Given the description of an element on the screen output the (x, y) to click on. 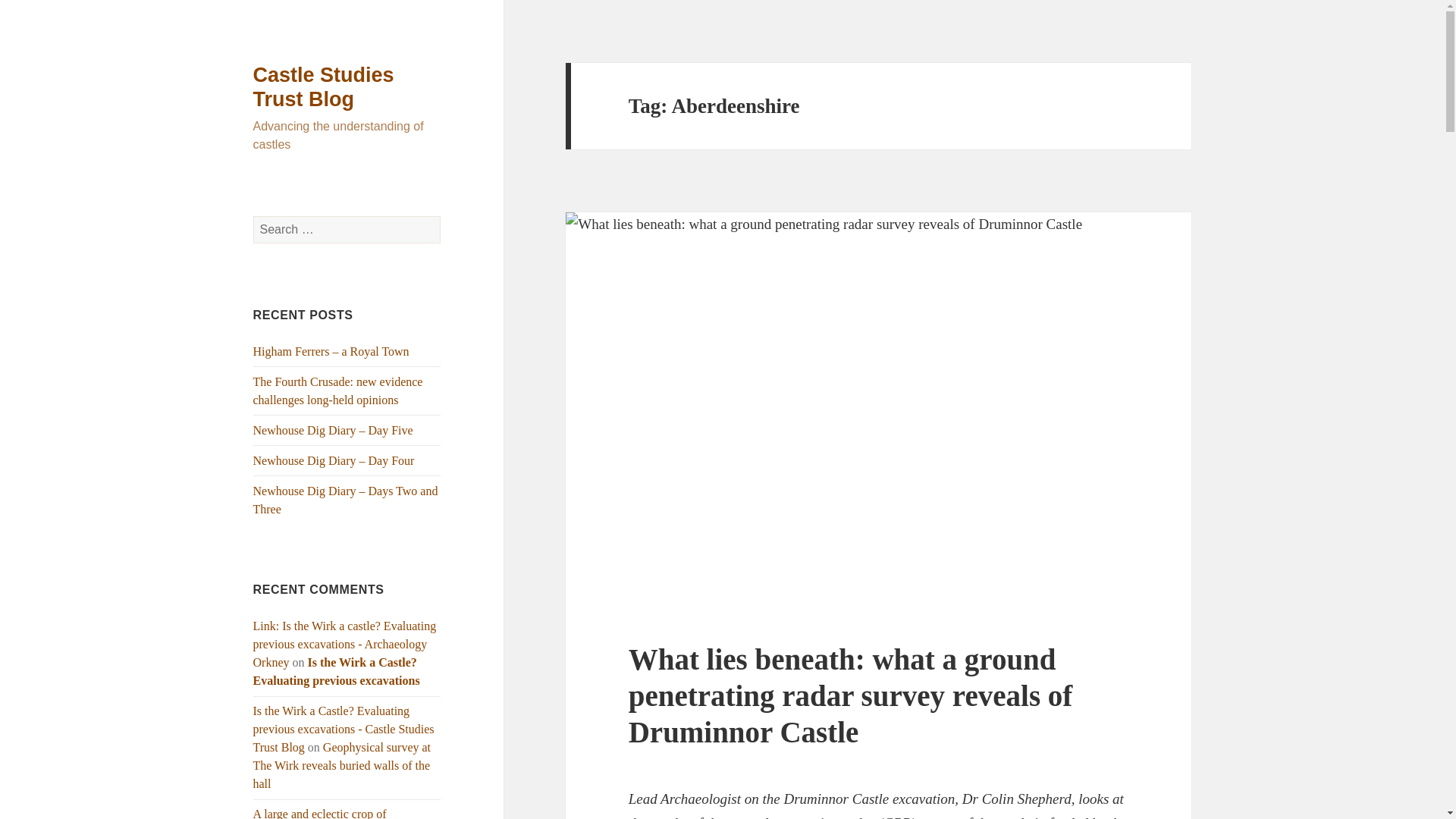
Castle Studies Trust Blog (323, 86)
Is the Wirk a Castle? Evaluating previous excavations (336, 671)
